Given the description of an element on the screen output the (x, y) to click on. 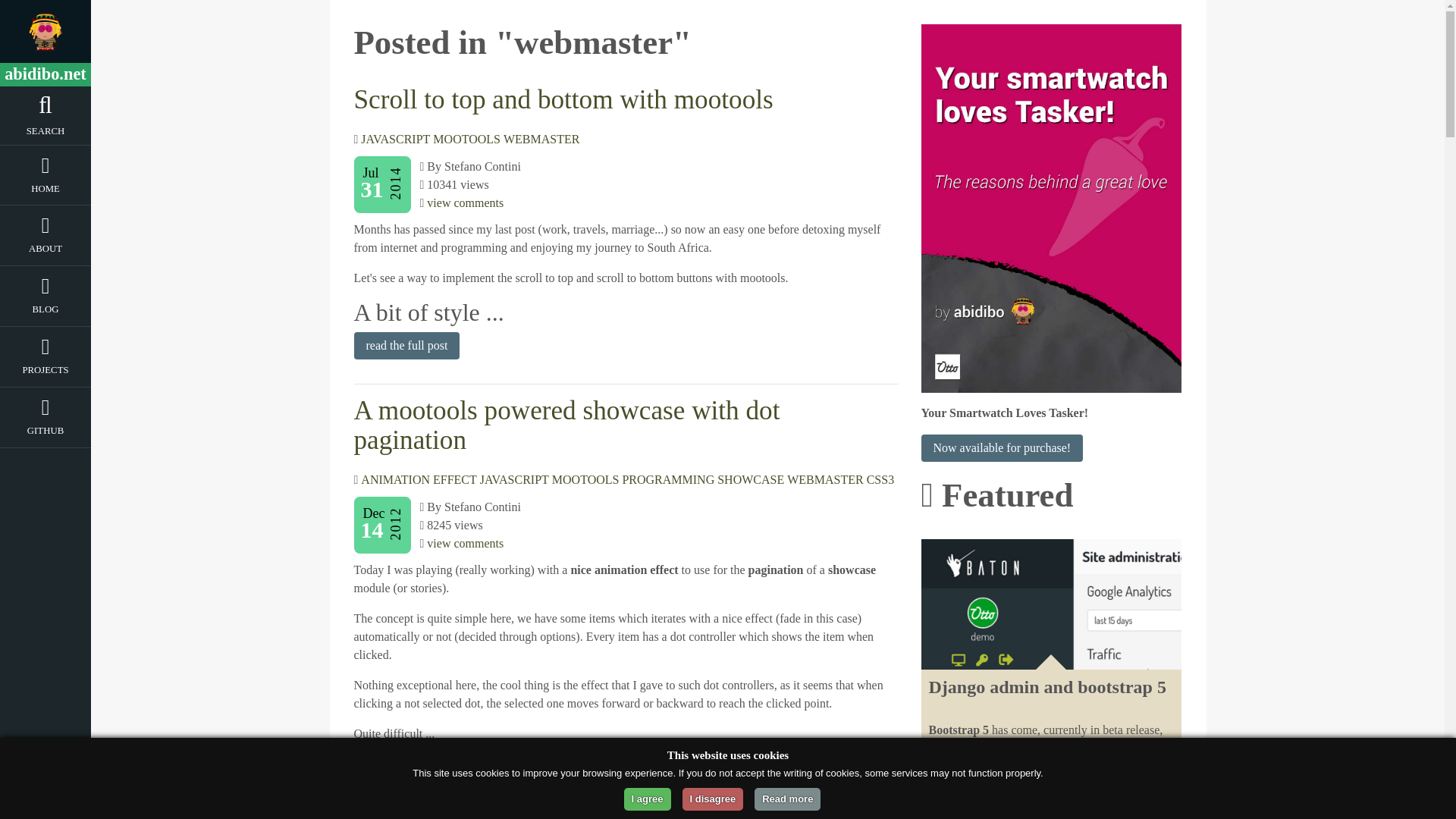
EFFECT (454, 479)
BLOG (45, 312)
read the full post (406, 768)
WEBMASTER (825, 479)
PROGRAMMING (667, 479)
MOOTOOLS (585, 479)
JAVASCRIPT (395, 138)
read the full post (406, 345)
MOOTOOLS (466, 138)
SHOWCASE (750, 479)
JAVASCRIPT (514, 479)
Projects (45, 373)
Github (45, 433)
CSS3 (879, 479)
ANIMATION (395, 479)
